Given the description of an element on the screen output the (x, y) to click on. 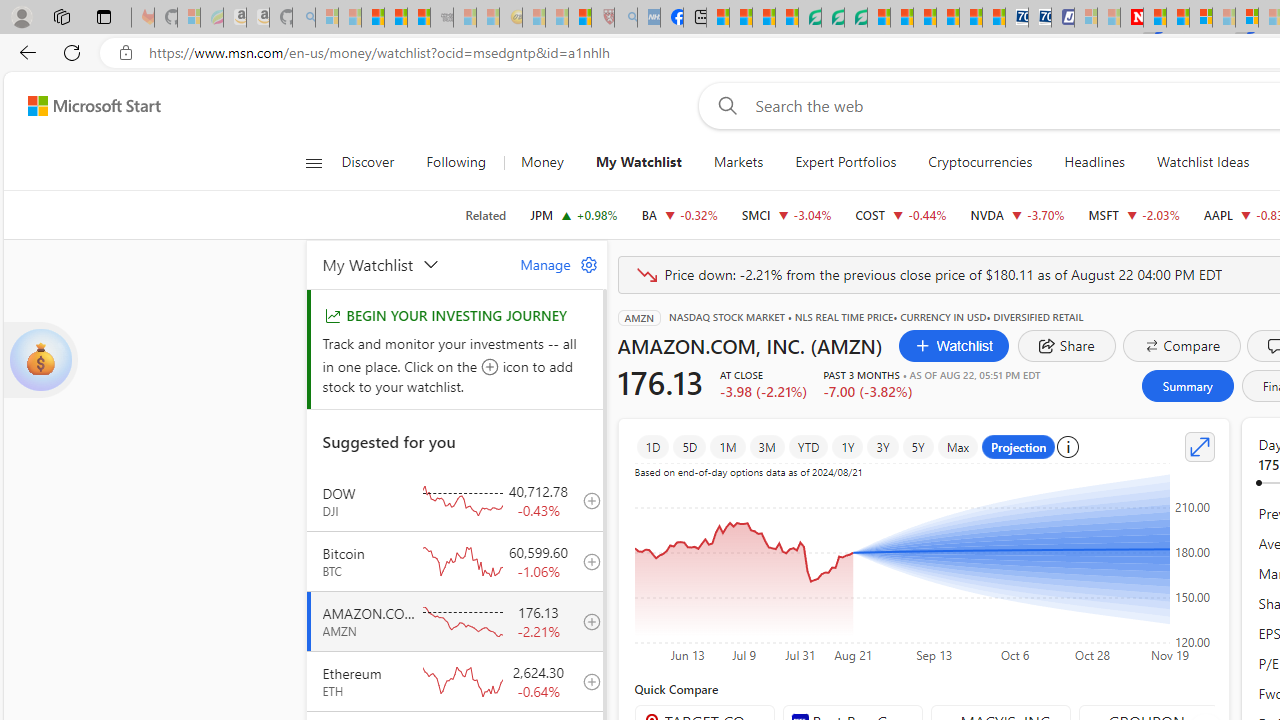
Markets (738, 162)
LendingTree - Compare Lenders (809, 17)
1Y (848, 446)
Compare (1181, 345)
Latest Politics News & Archive | Newsweek.com (1132, 17)
